Given the description of an element on the screen output the (x, y) to click on. 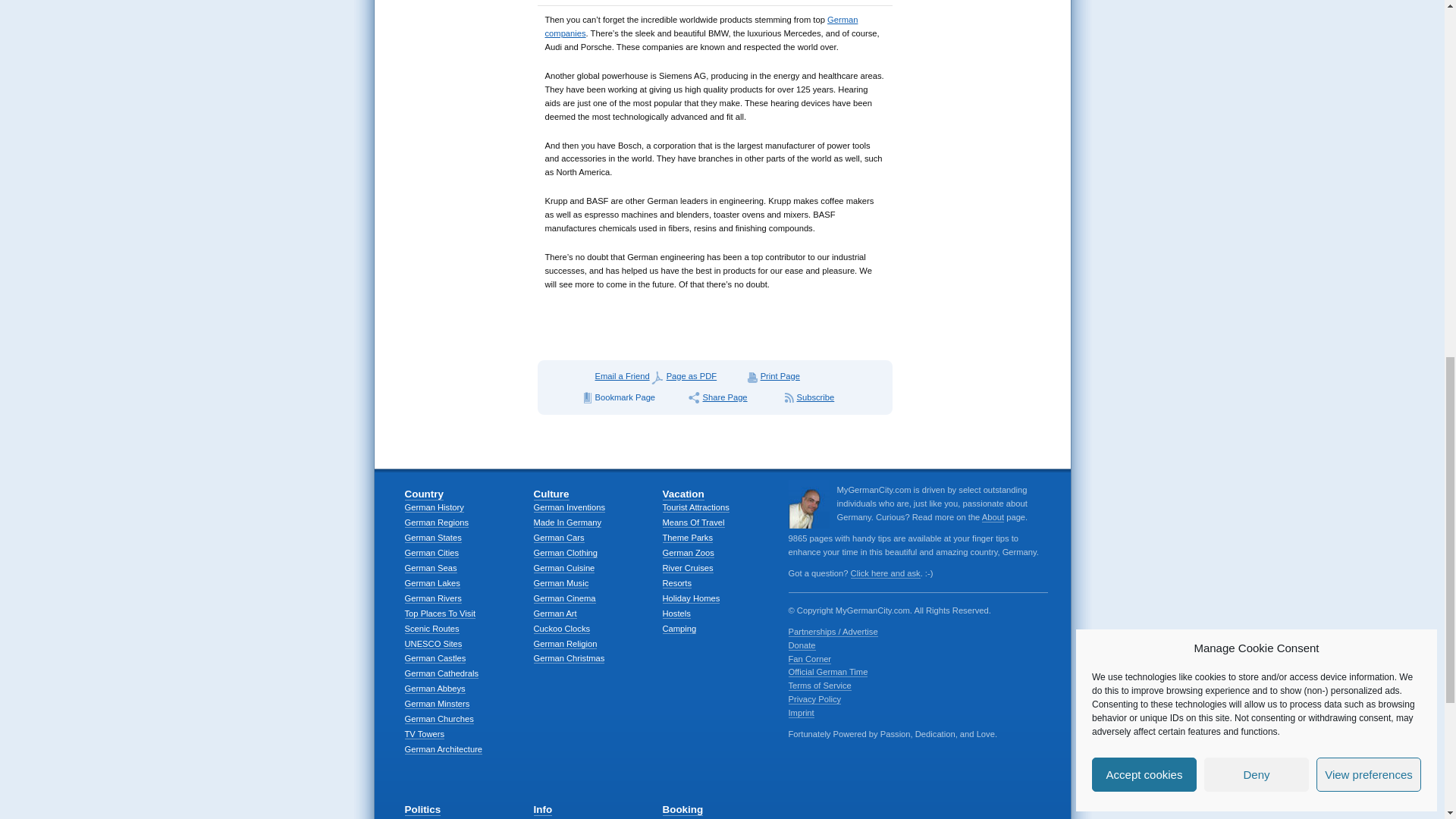
Bookmark this Page (631, 397)
Page as PDF (696, 376)
Subscribe (815, 397)
German companies (700, 26)
Print Page (780, 376)
Email a Friend (613, 376)
Print this page (780, 376)
Email a Friend (613, 376)
Download PDF (696, 376)
Share Page (731, 397)
Bookmark Page (631, 397)
